Given the description of an element on the screen output the (x, y) to click on. 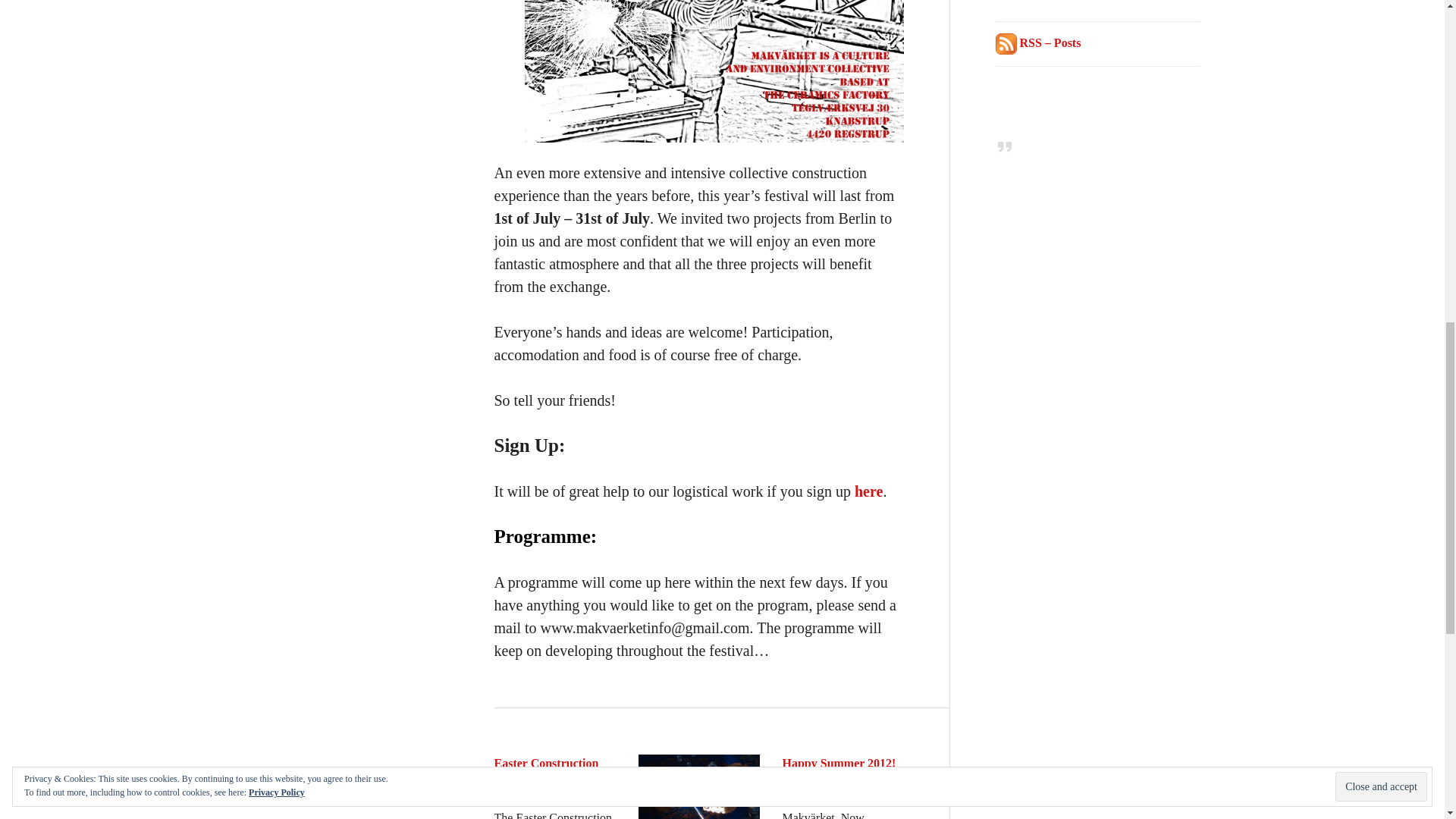
Happy Summer 2012! (839, 762)
Easter Construction Festival pics and projects (555, 786)
Easter Construction Festival pics and projects (546, 780)
Construction Festival 2011 Sign Up (868, 491)
Happy Summer 2012! (843, 786)
Happy Summer 2012! (839, 762)
Easter Construction Festival pics and projects (546, 780)
Subscribe to posts (1037, 42)
here (868, 491)
Summer Construction Festival 2011 Poster (714, 71)
